Given the description of an element on the screen output the (x, y) to click on. 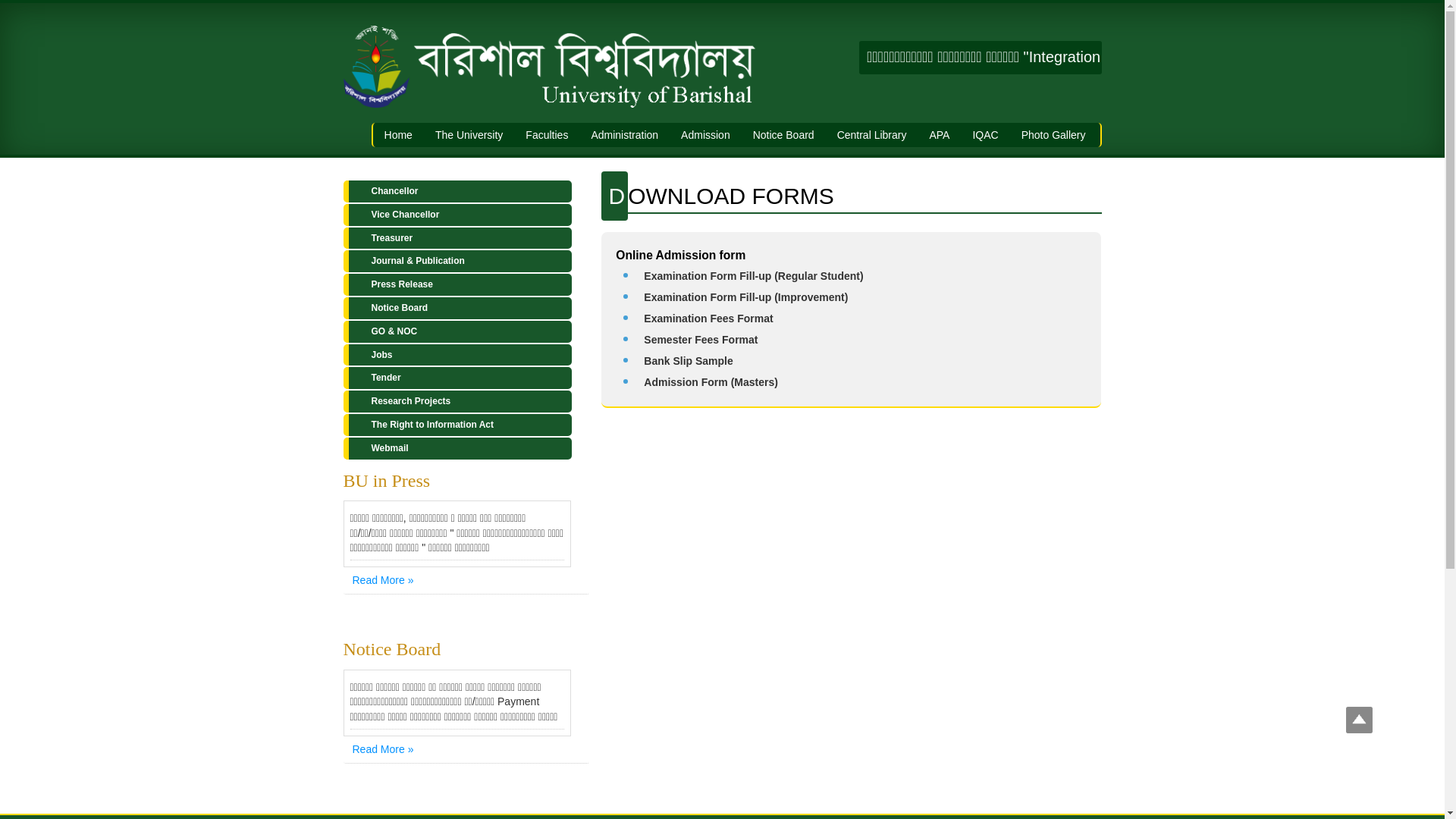
Home Element type: text (398, 134)
Faculties Element type: text (546, 134)
Go to top Element type: hover (1359, 721)
Tender Element type: text (456, 378)
Examination Form Fill-up (Improvement) Element type: text (745, 297)
The University Element type: text (468, 134)
Research Projects Element type: text (456, 401)
Photo Gallery Element type: text (1053, 134)
Examination Form Fill-up (Regular Student) Element type: text (752, 275)
Treasurer Element type: text (456, 238)
Bank Slip Sample Element type: text (687, 360)
GO & NOC Element type: text (456, 331)
Chancellor Element type: text (456, 191)
IQAC Element type: text (984, 134)
Journal & Publication Element type: text (456, 261)
Admission Element type: text (705, 134)
Press Release Element type: text (456, 284)
Semester Fees Format Element type: text (700, 339)
APA Element type: text (938, 134)
Notice Board Element type: text (783, 134)
Admission Form (Masters) Element type: text (710, 382)
Vice Chancellor Element type: text (456, 214)
Webmail Element type: text (456, 448)
Examination Fees Format Element type: text (707, 318)
Central Library Element type: text (871, 134)
Jobs Element type: text (456, 355)
Notice Board Element type: text (456, 308)
The Right to Information Act Element type: text (456, 425)
Administration Element type: text (624, 134)
